Given the description of an element on the screen output the (x, y) to click on. 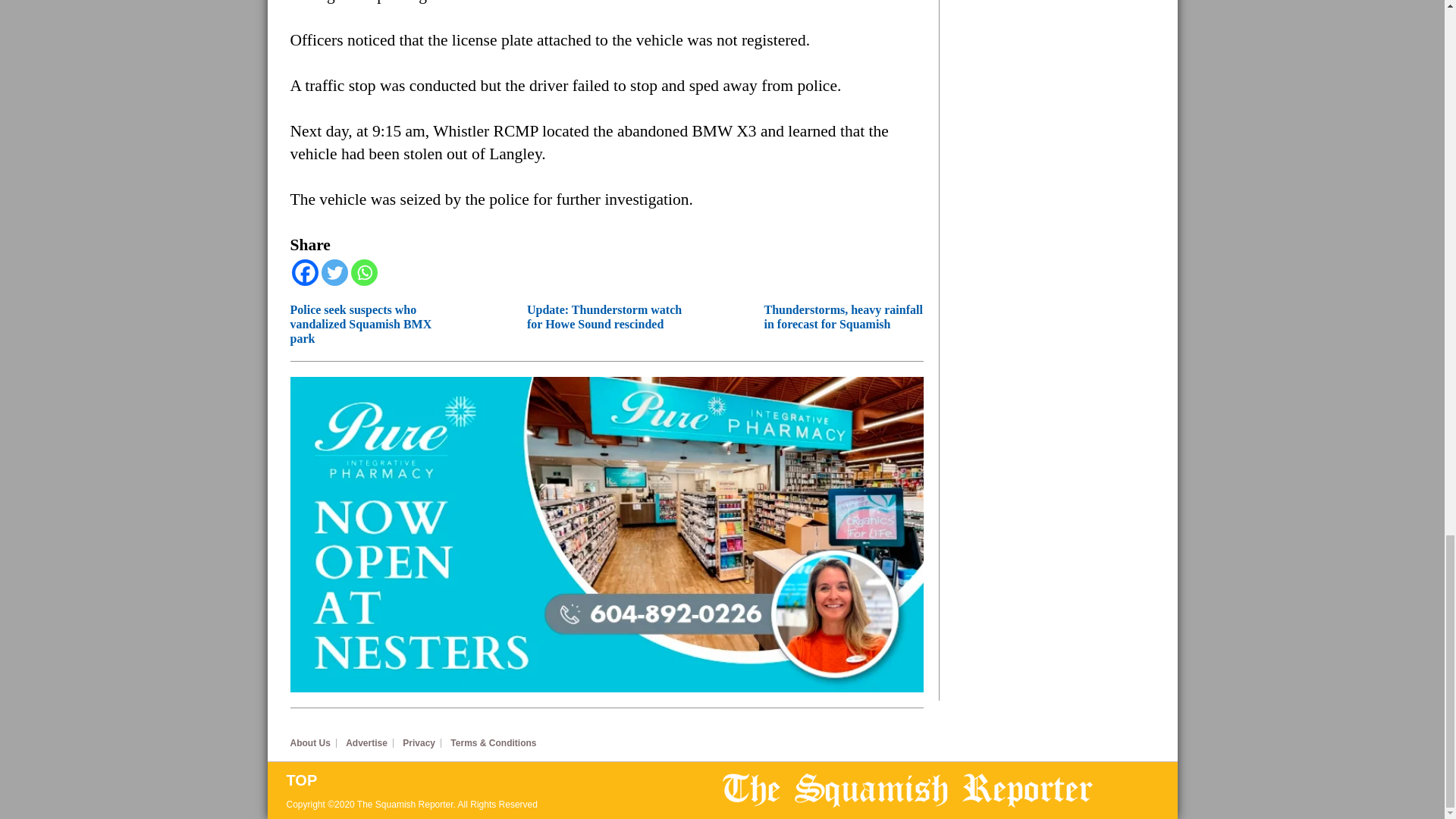
Twitter (334, 272)
Whatsapp (363, 272)
Facebook (304, 272)
Privacy (422, 742)
About Us (312, 742)
TOP (504, 780)
Back To Top (504, 780)
Advertise (369, 742)
